Given the description of an element on the screen output the (x, y) to click on. 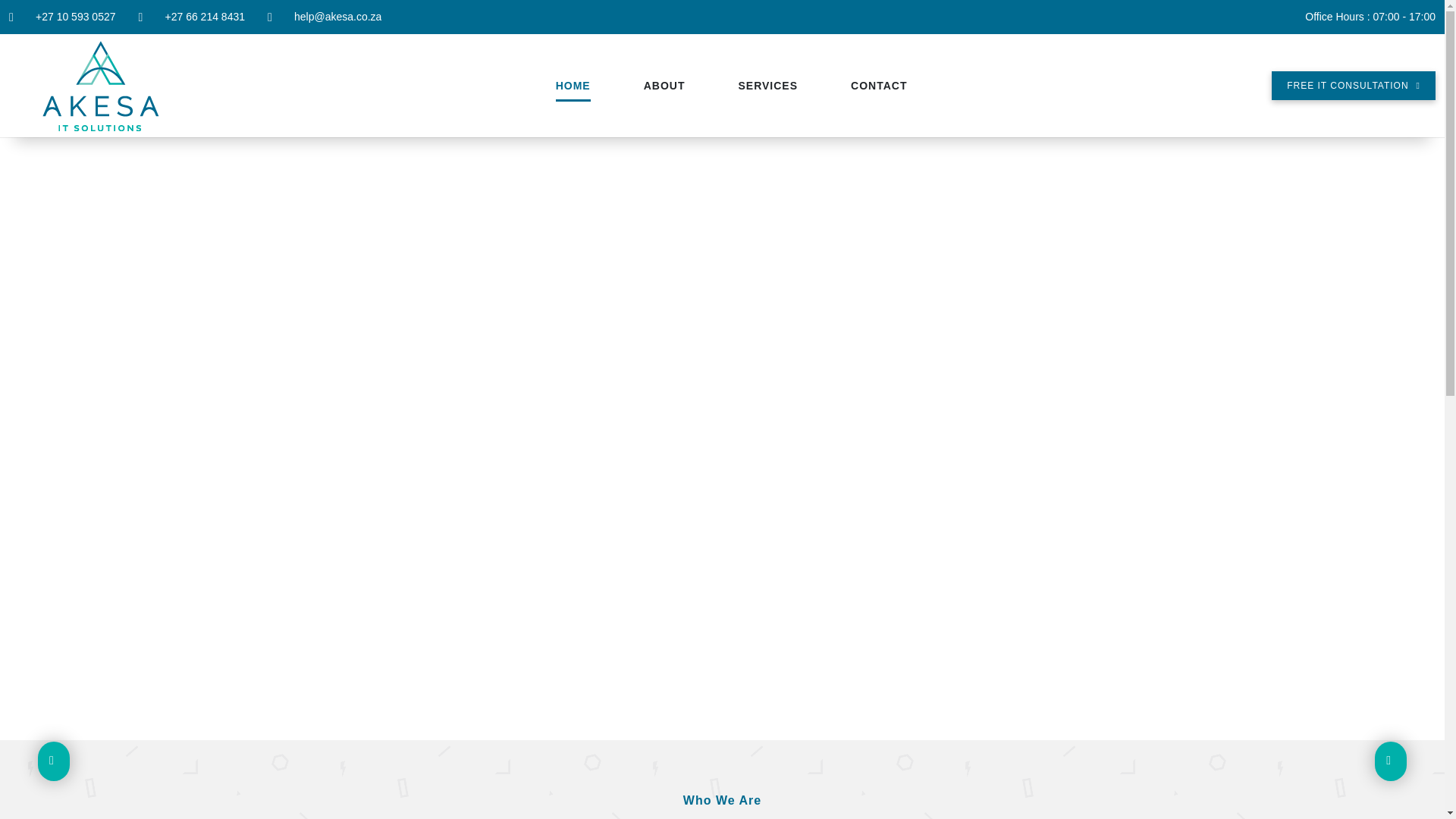
SERVICES (767, 85)
CONTACT (878, 85)
Get a Free IT Consultation (1353, 85)
FREE IT CONSULTATION (1353, 85)
HOME (573, 85)
ABOUT (664, 85)
